Given the description of an element on the screen output the (x, y) to click on. 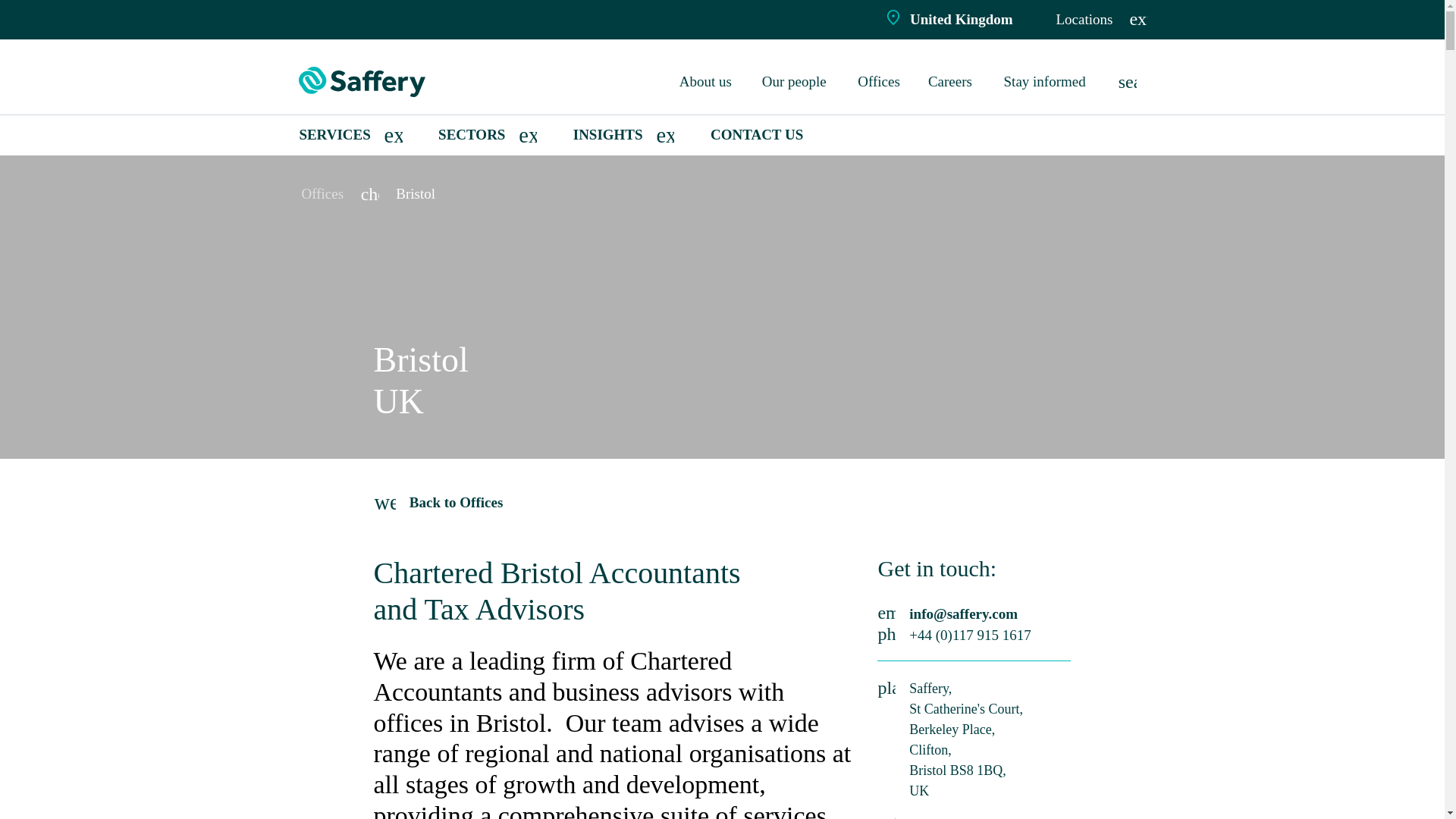
CONTACT US (756, 134)
Stay informed (1047, 82)
Our people (796, 82)
Careers (951, 82)
Offices (879, 82)
Bristol (415, 193)
About us (706, 82)
Offices (322, 193)
